Given the description of an element on the screen output the (x, y) to click on. 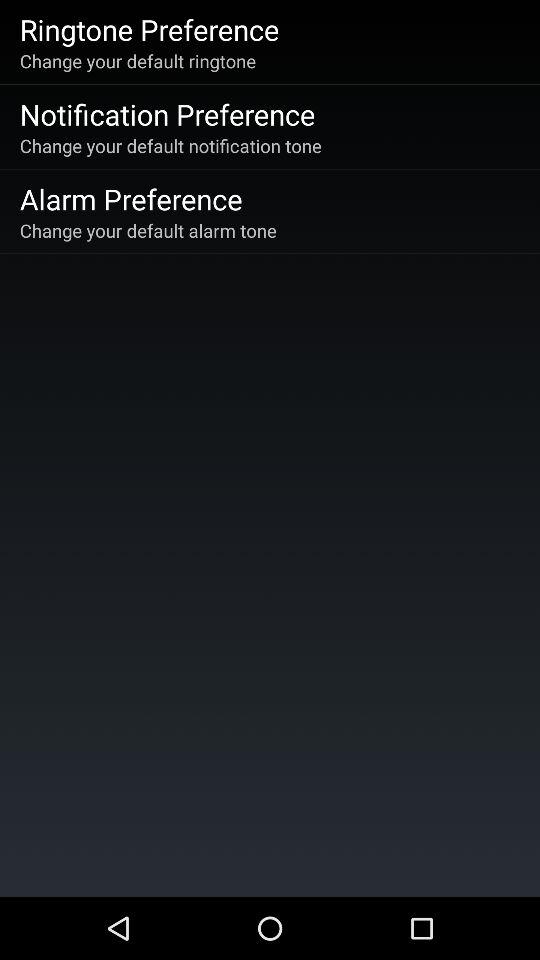
turn off app above the change your default item (167, 113)
